Given the description of an element on the screen output the (x, y) to click on. 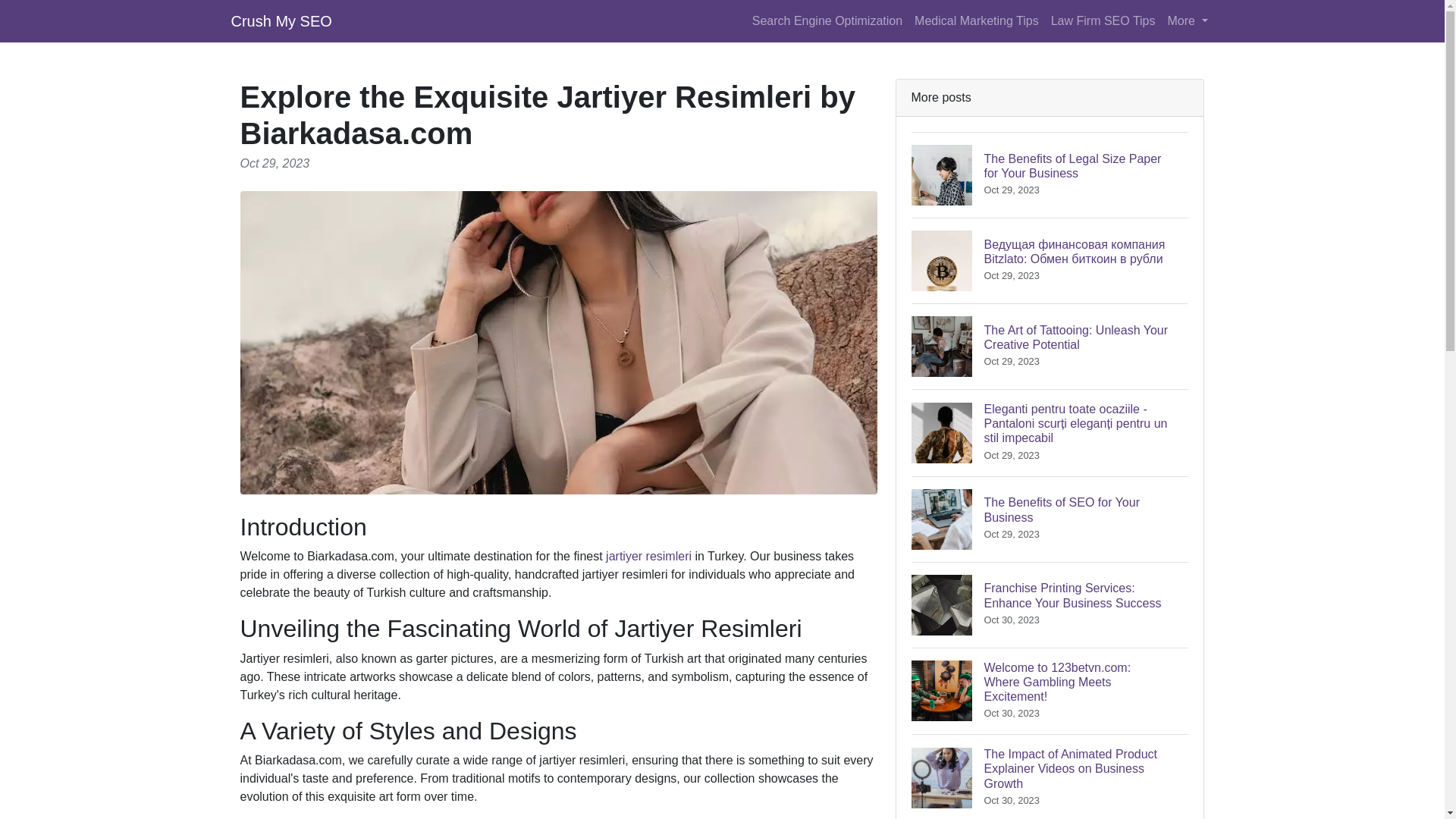
Law Firm SEO Tips (1103, 20)
Search Engine Optimization (826, 20)
Crush My SEO (280, 20)
jartiyer resimleri (1050, 518)
More (648, 555)
